Given the description of an element on the screen output the (x, y) to click on. 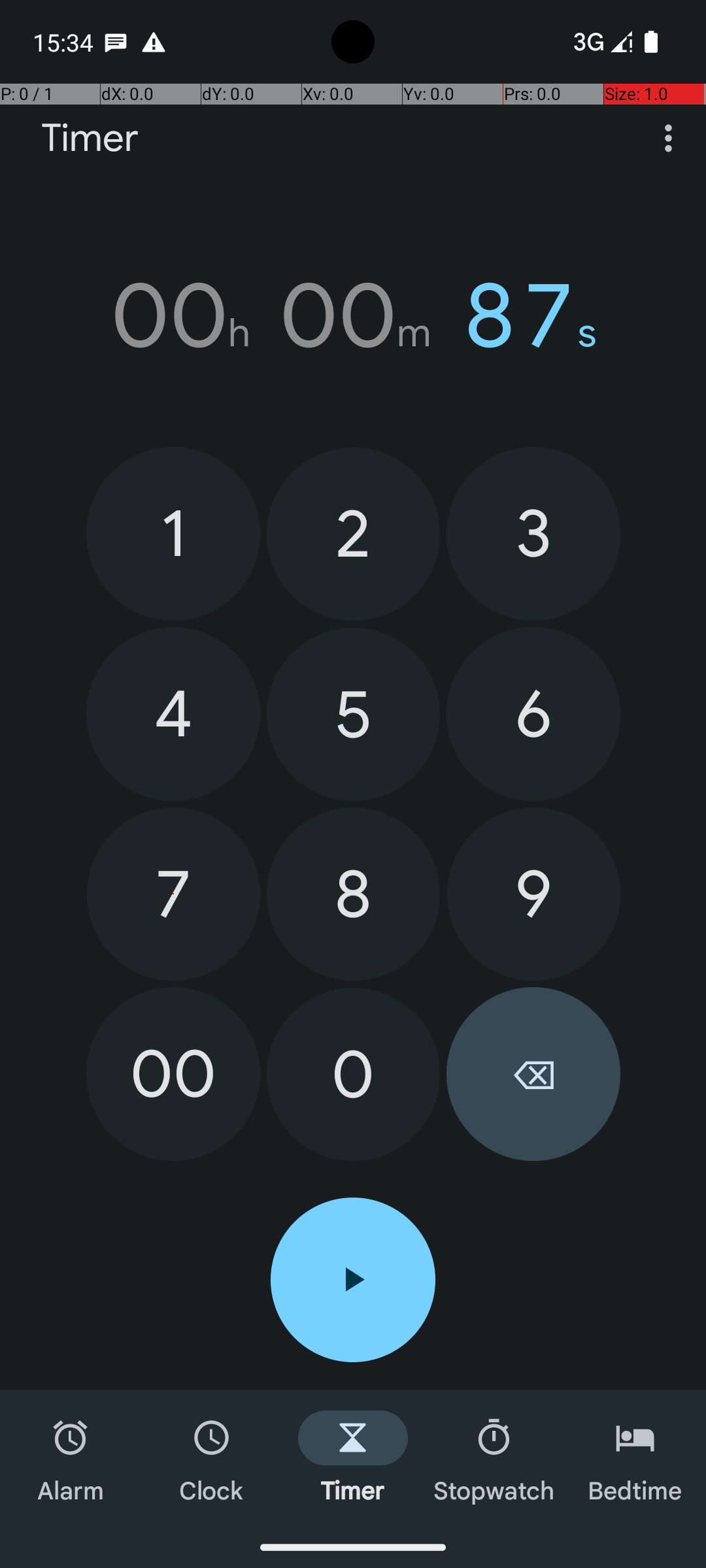
00h 00m 87s Element type: android.widget.TextView (353, 315)
